Given the description of an element on the screen output the (x, y) to click on. 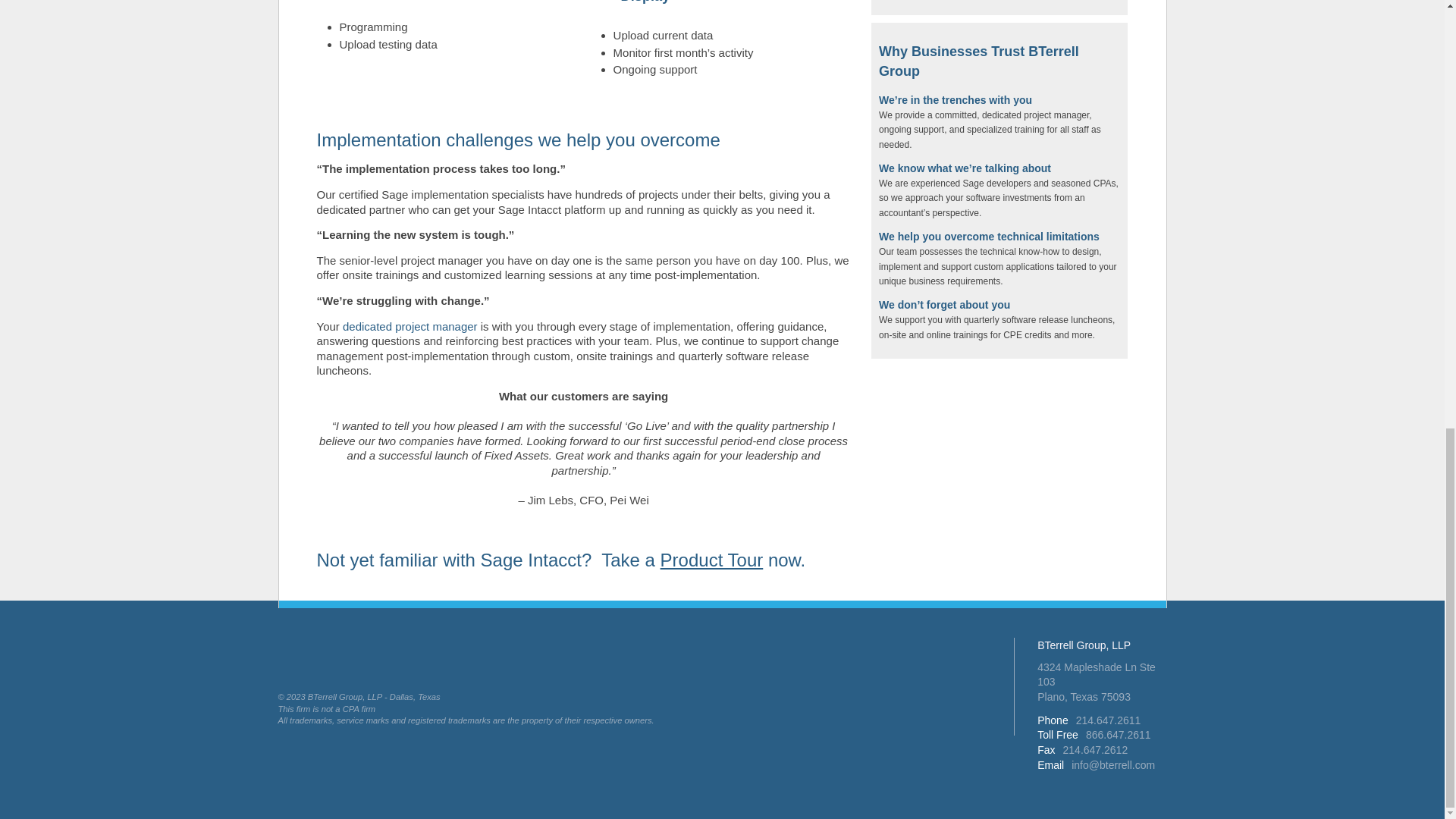
Form 0 (999, 3)
